Given the description of an element on the screen output the (x, y) to click on. 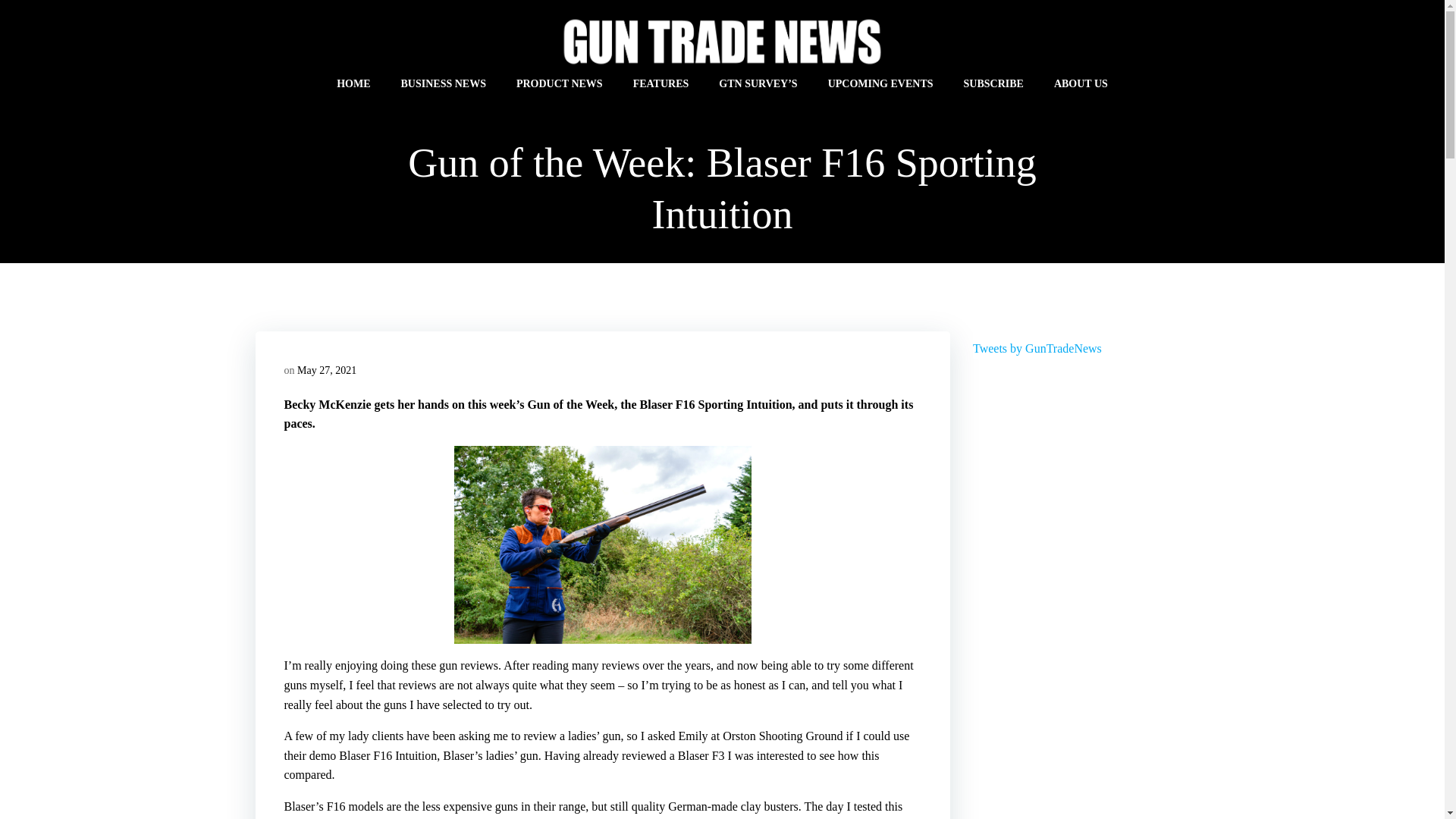
SUBSCRIBE (993, 83)
Orston Shooting Ground (782, 735)
ABOUT US (1081, 83)
FEATURES (660, 83)
UPCOMING EVENTS (880, 83)
HOME (352, 83)
BUSINESS NEWS (442, 83)
May 27, 2021 (326, 369)
Tweets by GunTradeNews (1037, 348)
PRODUCT NEWS (559, 83)
